Given the description of an element on the screen output the (x, y) to click on. 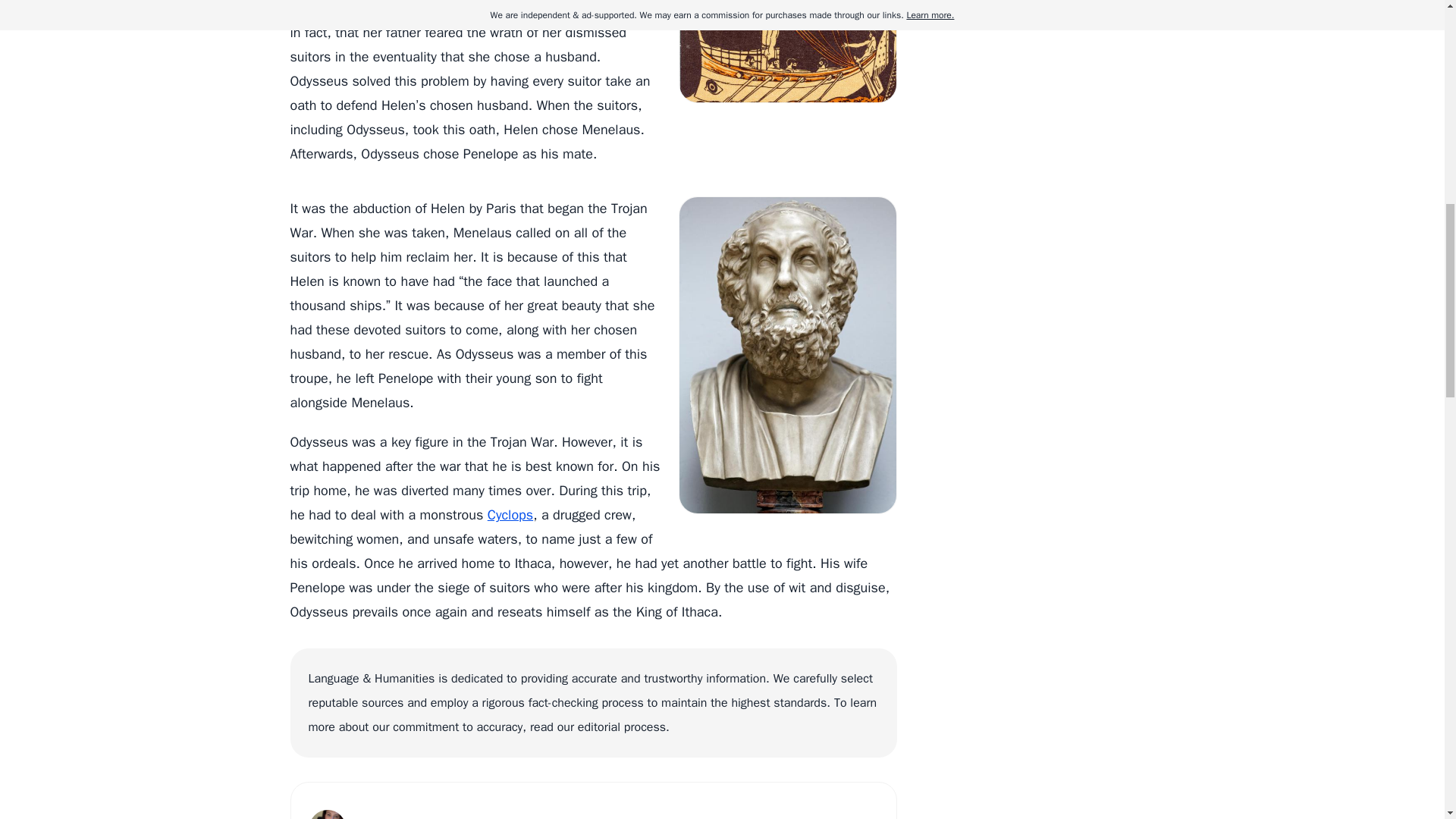
Cyclops (509, 514)
